Given the description of an element on the screen output the (x, y) to click on. 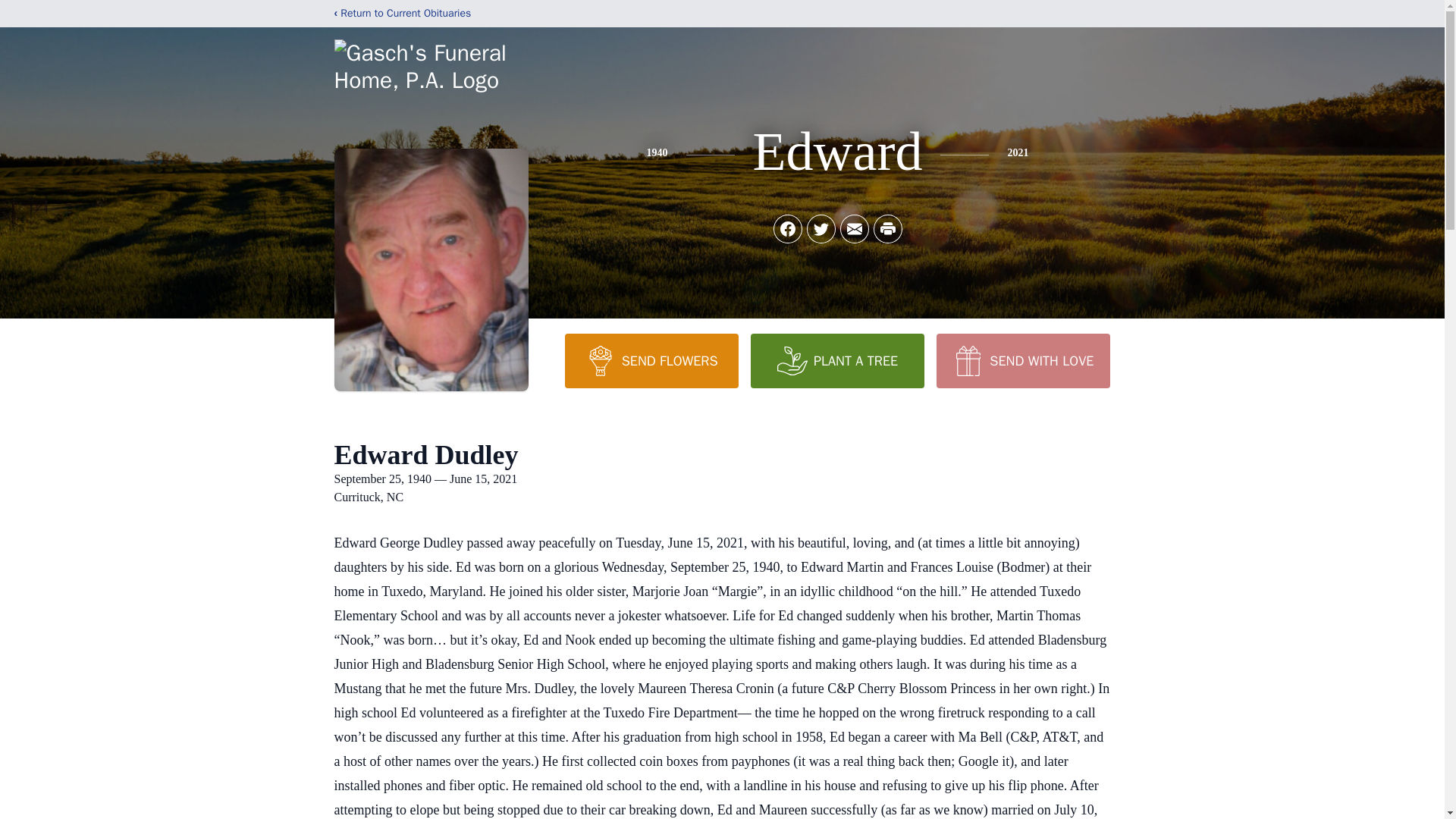
SEND WITH LOVE (1022, 360)
SEND FLOWERS (651, 360)
PLANT A TREE (837, 360)
